Given the description of an element on the screen output the (x, y) to click on. 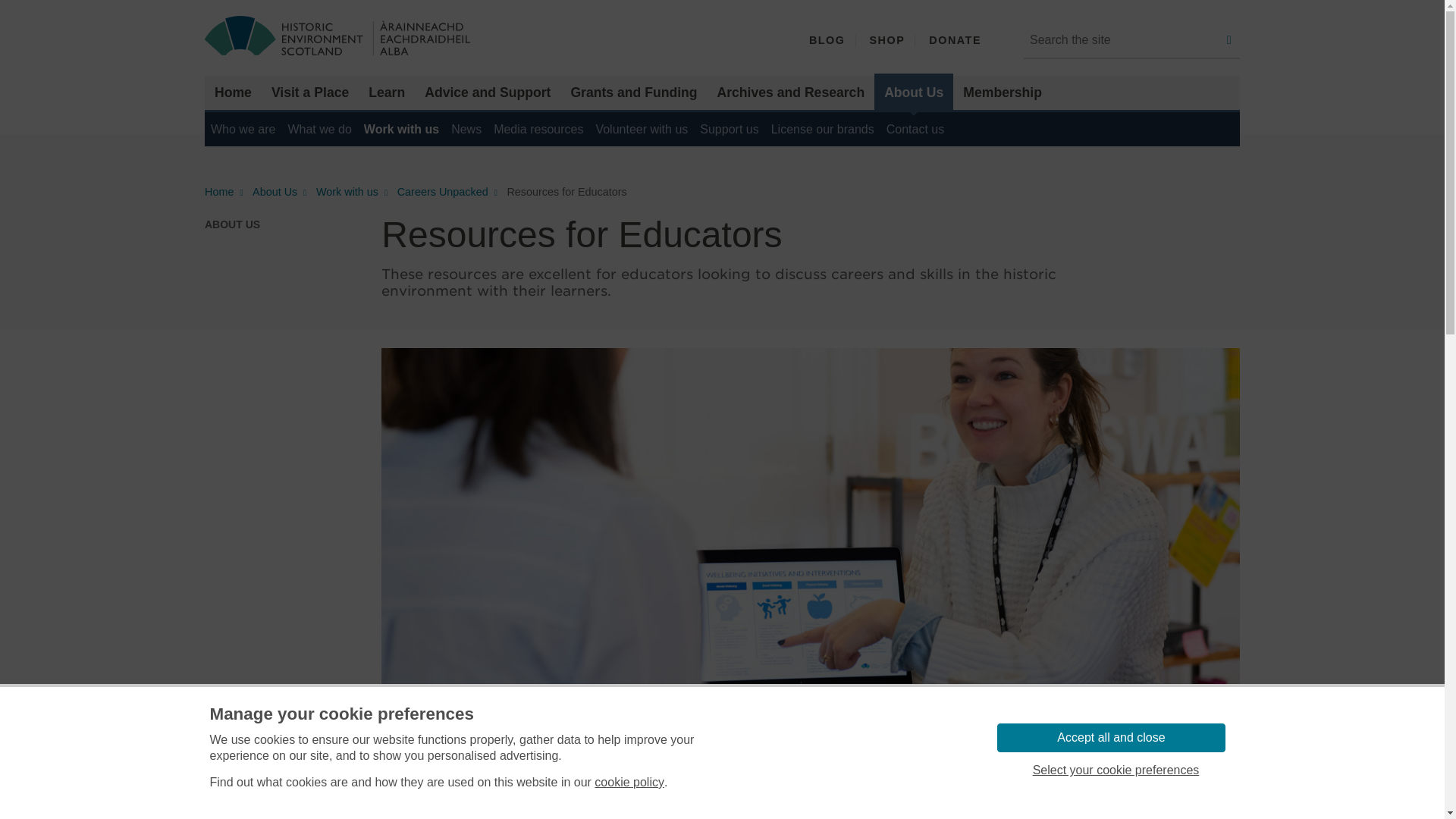
Advice and Support (487, 92)
Accept all and close (1110, 737)
Learn (386, 92)
cookie policy (628, 782)
Select your cookie preferences (1114, 770)
Home (233, 92)
Visit a Place (310, 92)
